Given the description of an element on the screen output the (x, y) to click on. 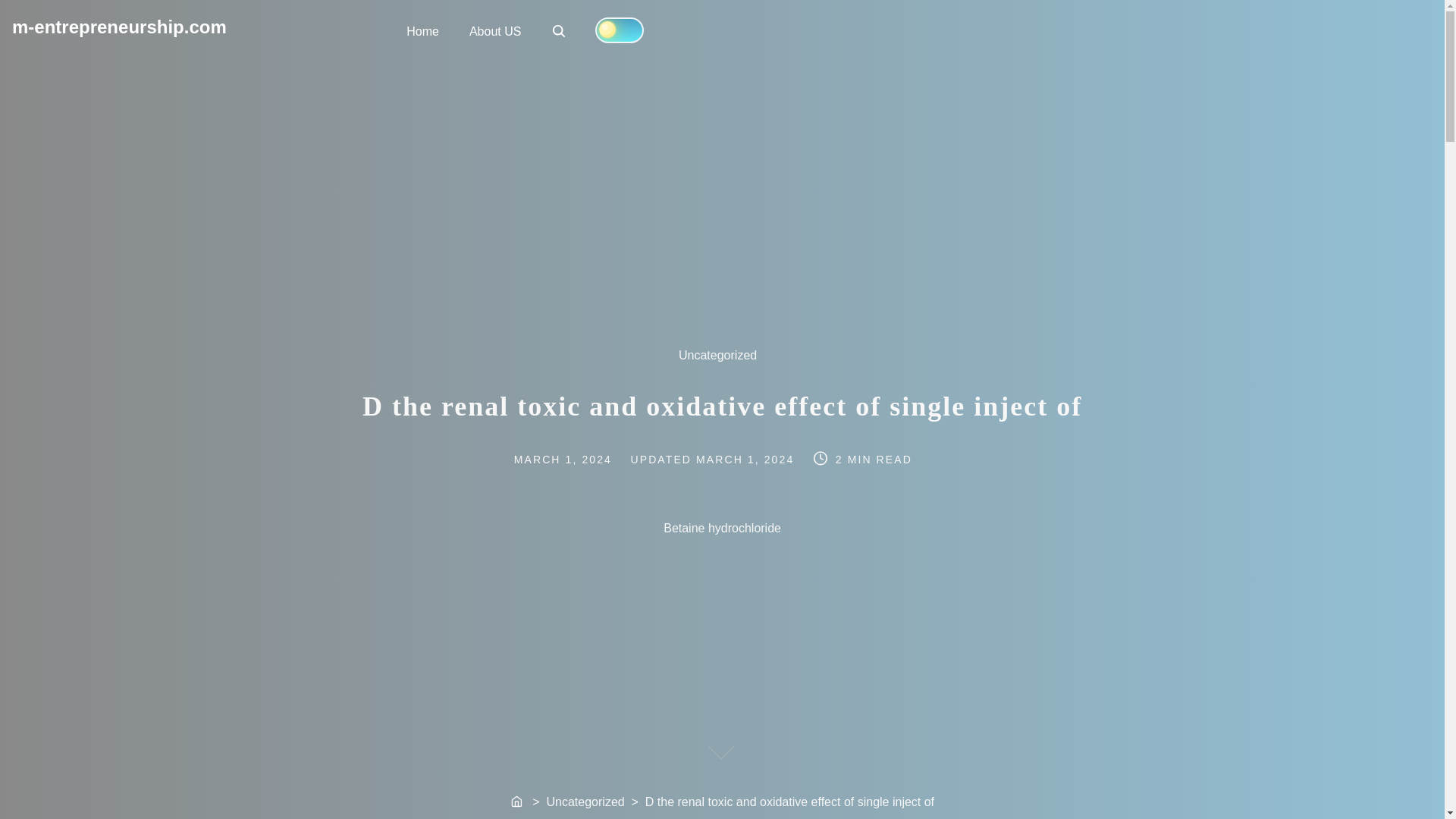
Home (518, 802)
m-entrepreneurship.com (119, 26)
Uncategorized (724, 361)
MARCH 1, 2024 (576, 458)
Home (559, 31)
View all posts by Betaine hydrochloride (422, 30)
Betaine hydrochloride (1023, 530)
About US (1026, 525)
MARCH 1, 2024 (494, 30)
